Given the description of an element on the screen output the (x, y) to click on. 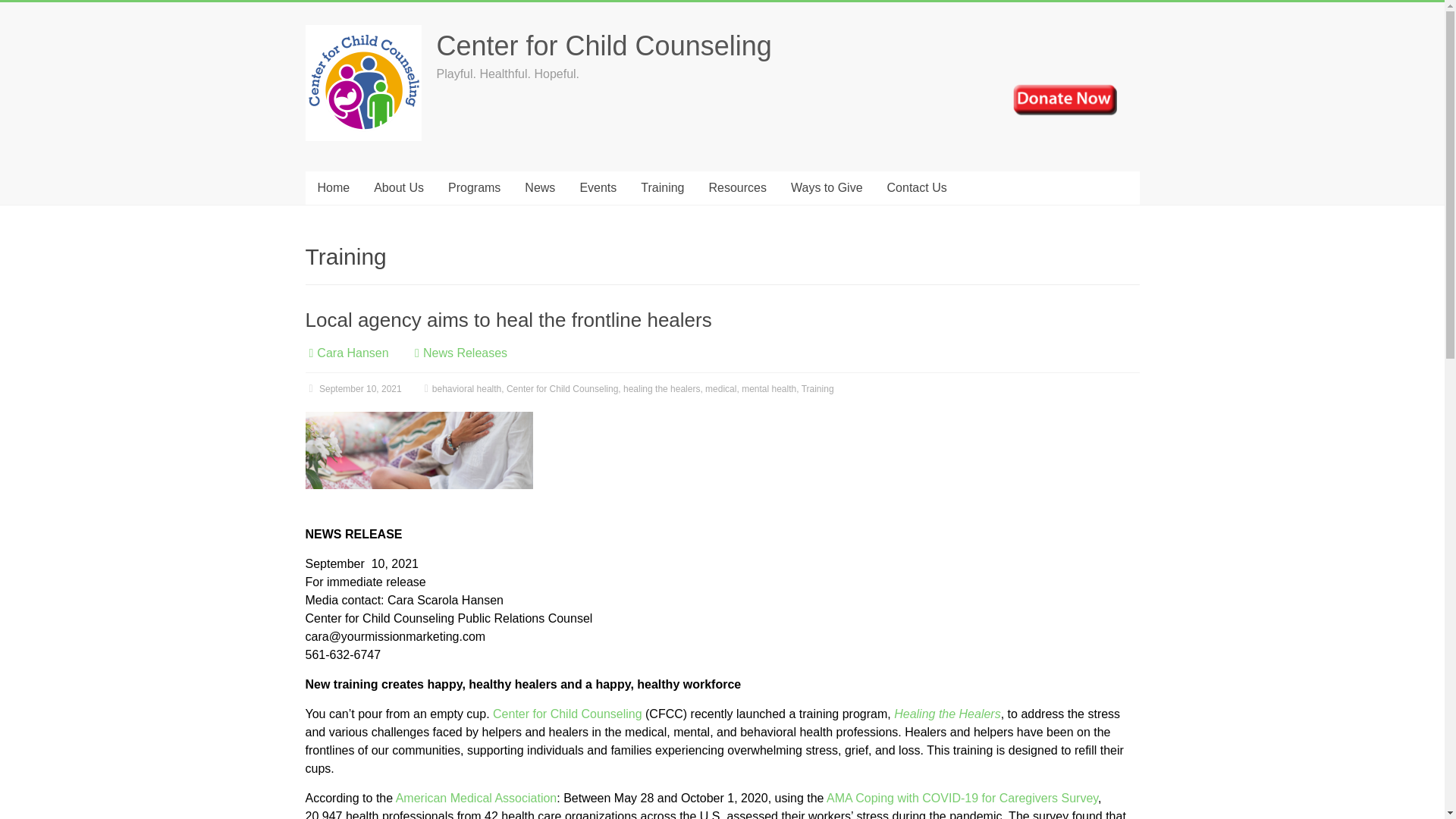
Cara Hansen (352, 352)
Local agency aims to heal the frontline healers (507, 319)
Center for Child Counseling (603, 45)
11:43 am (352, 388)
About Us (398, 187)
Home (332, 187)
Center for Child Counseling (603, 45)
Programs (473, 187)
